Given the description of an element on the screen output the (x, y) to click on. 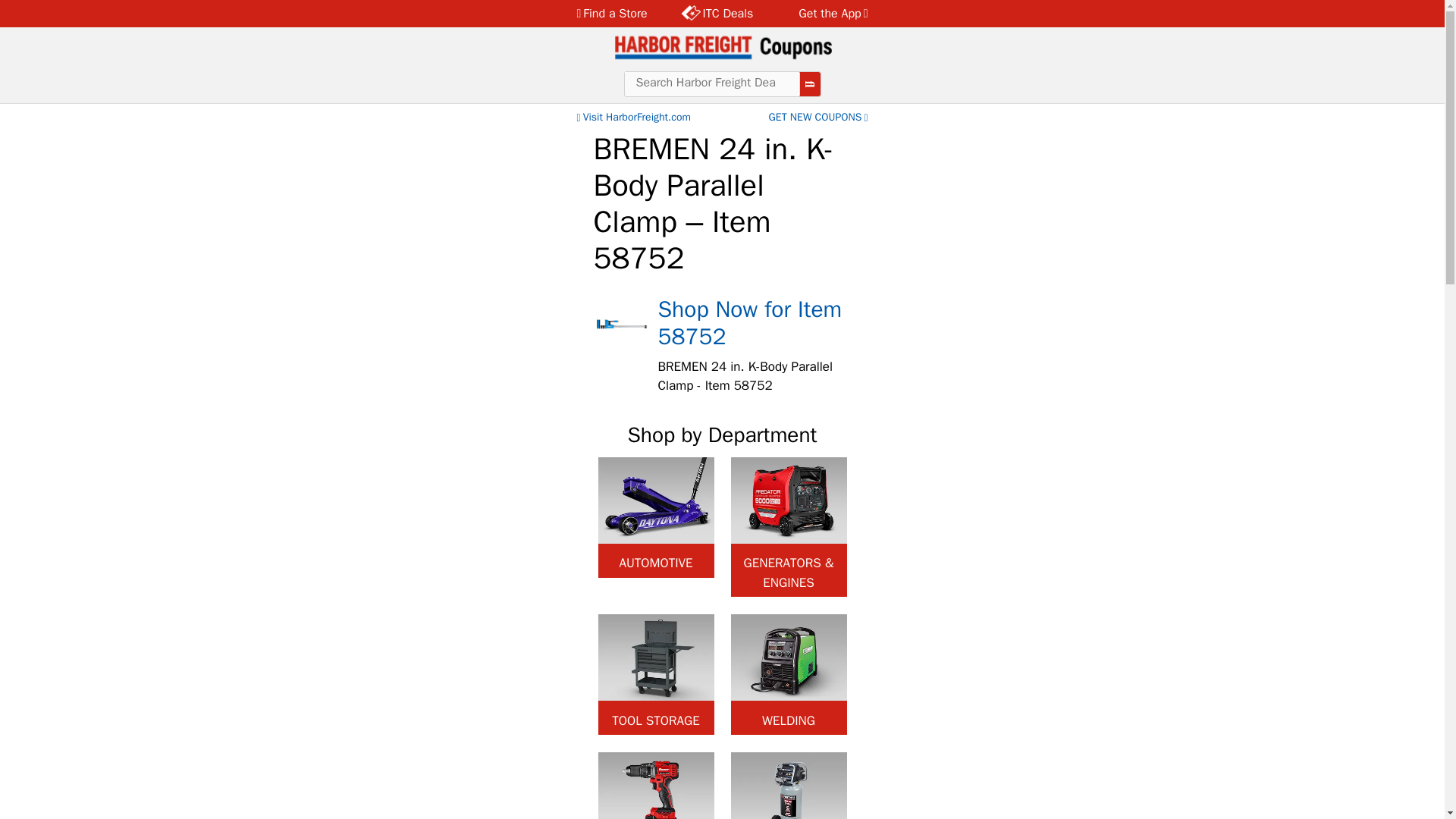
POWER TOOLS (654, 785)
WELDING (788, 674)
Visit HarborFreight.com (632, 116)
GET NEW COUPONS (819, 116)
Download the Harbor Freight App (823, 13)
Shop Now for Item 58752 (750, 322)
AUTOMOTIVE (654, 516)
Get the App (823, 13)
COMPRESSORS (788, 785)
ITC Deals (717, 13)
Find a Harbor Freight Store (615, 13)
Search Harbor Freight Deals (711, 82)
TOOL STORAGE (654, 674)
Inside Track Club Member Deals (717, 13)
Find a Store (615, 13)
